Given the description of an element on the screen output the (x, y) to click on. 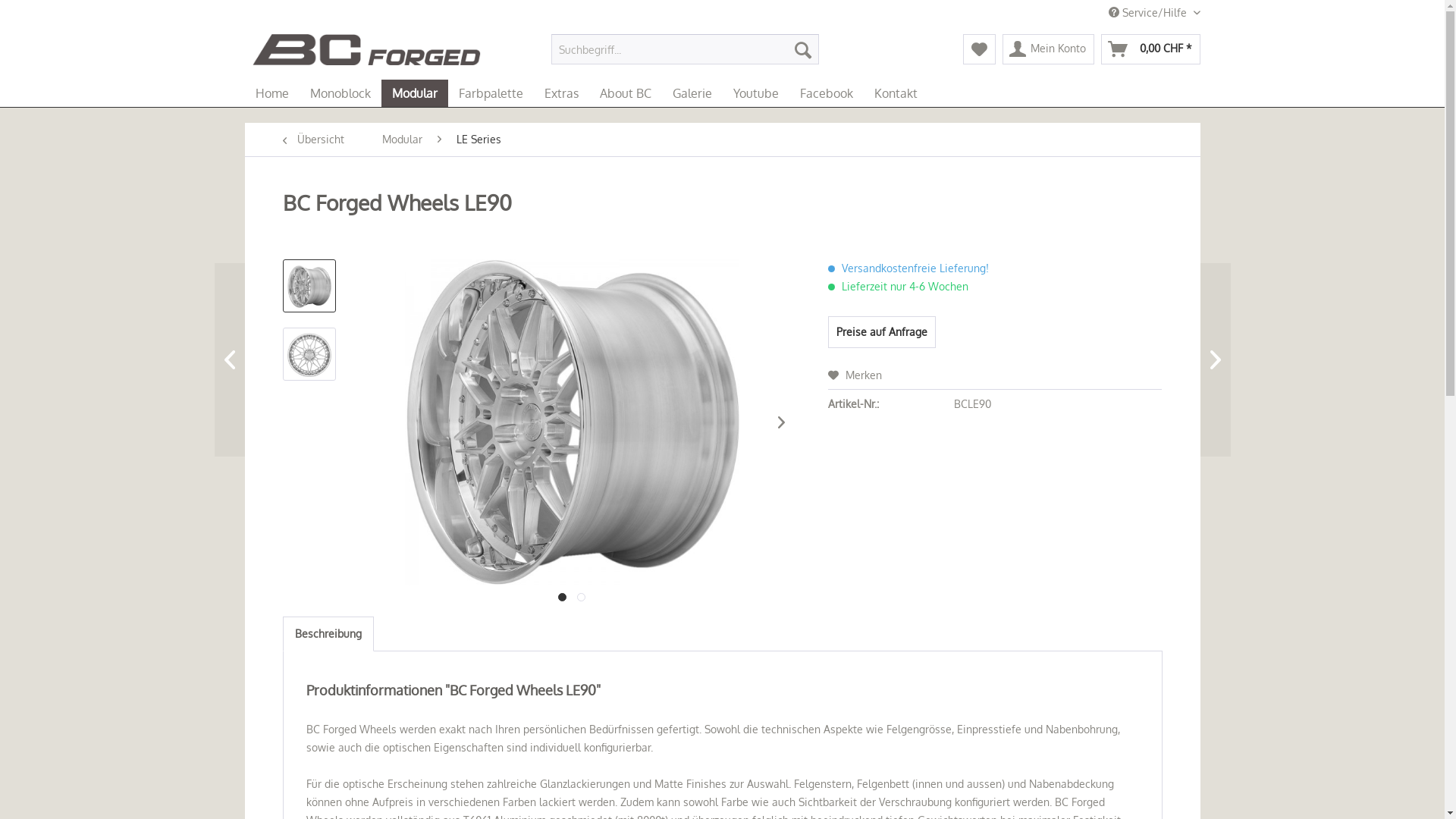
Beschreibung Element type: text (327, 633)
Merkzettel Element type: hover (979, 49)
Galerie Element type: text (691, 92)
Kontakt Element type: text (894, 92)
Mein Konto Element type: text (1048, 49)
Vorschau: BC Forged Wheels LE90 Element type: hover (308, 286)
Vorschau: BC Forged Wheels LE90 Element type: hover (308, 353)
Modular Element type: text (401, 139)
Merken Element type: text (854, 374)
Vorschau: BC Forged Wheels LE90 Element type: hover (308, 285)
About BC Element type: text (624, 92)
Monoblock Element type: text (339, 92)
Facebook Element type: text (825, 92)
Modular Element type: text (413, 92)
Home Element type: text (271, 92)
BC Forged Wheels LE95 Element type: hover (304, 359)
LE Series Element type: text (478, 139)
Preise auf Anfrage Element type: text (881, 331)
BC Forged Wheels LE72 Element type: hover (1139, 359)
Vorschau: BC Forged Wheels LE90 Element type: hover (308, 354)
0,00 CHF * Element type: text (1150, 49)
  Element type: text (562, 597)
Farbpalette Element type: text (490, 92)
Youtube Element type: text (754, 92)
Extras Element type: text (561, 92)
  Element type: text (581, 597)
